Given the description of an element on the screen output the (x, y) to click on. 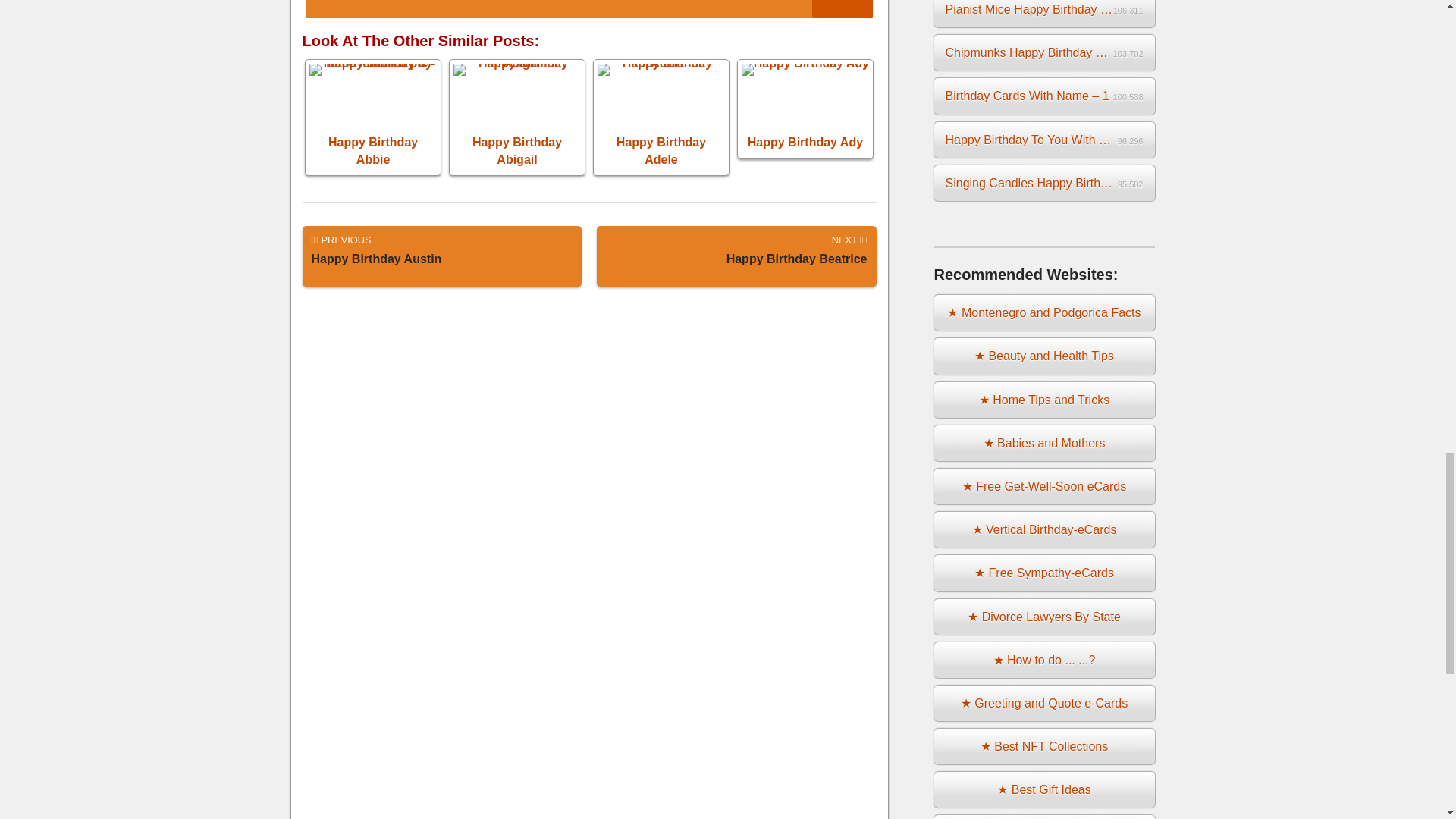
Happy Birthday Adele (661, 117)
Happy Birthday Abbie (373, 117)
Happy Birthday Ady (440, 256)
See also  Happy Birthday Kenzie (805, 108)
Happy Birthday Ady (588, 9)
Happy Birthday Abbie (736, 256)
Happy Birthday Adele (805, 108)
Happy Birthday Abigail (373, 117)
